Given the description of an element on the screen output the (x, y) to click on. 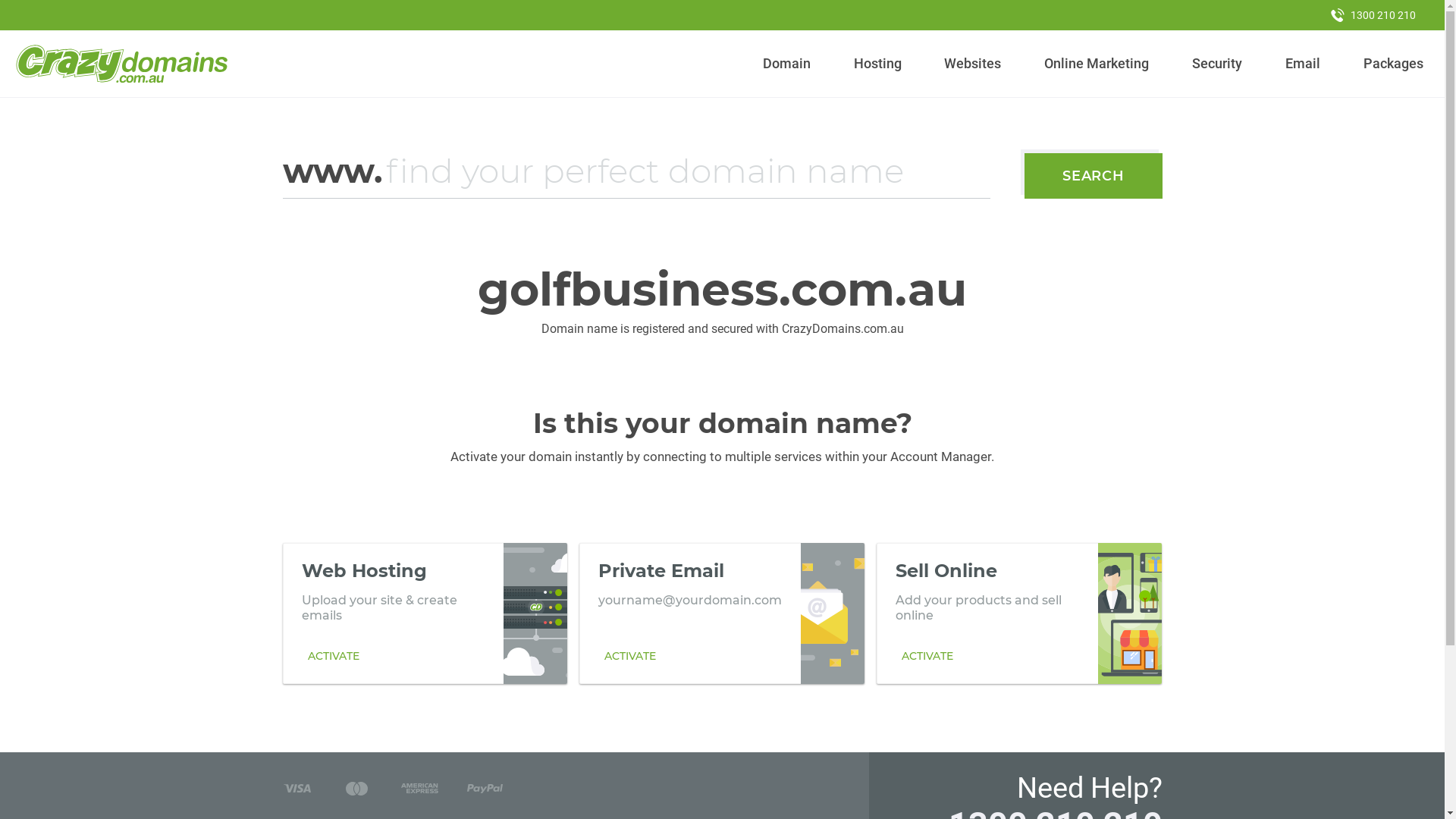
Private Email
yourname@yourdomain.com
ACTIVATE Element type: text (721, 613)
Email Element type: text (1302, 63)
Packages Element type: text (1392, 63)
Hosting Element type: text (877, 63)
SEARCH Element type: text (1092, 175)
Websites Element type: text (972, 63)
Sell Online
Add your products and sell online
ACTIVATE Element type: text (1018, 613)
Security Element type: text (1217, 63)
1300 210 210 Element type: text (1373, 15)
Online Marketing Element type: text (1096, 63)
Domain Element type: text (786, 63)
Web Hosting
Upload your site & create emails
ACTIVATE Element type: text (424, 613)
